Given the description of an element on the screen output the (x, y) to click on. 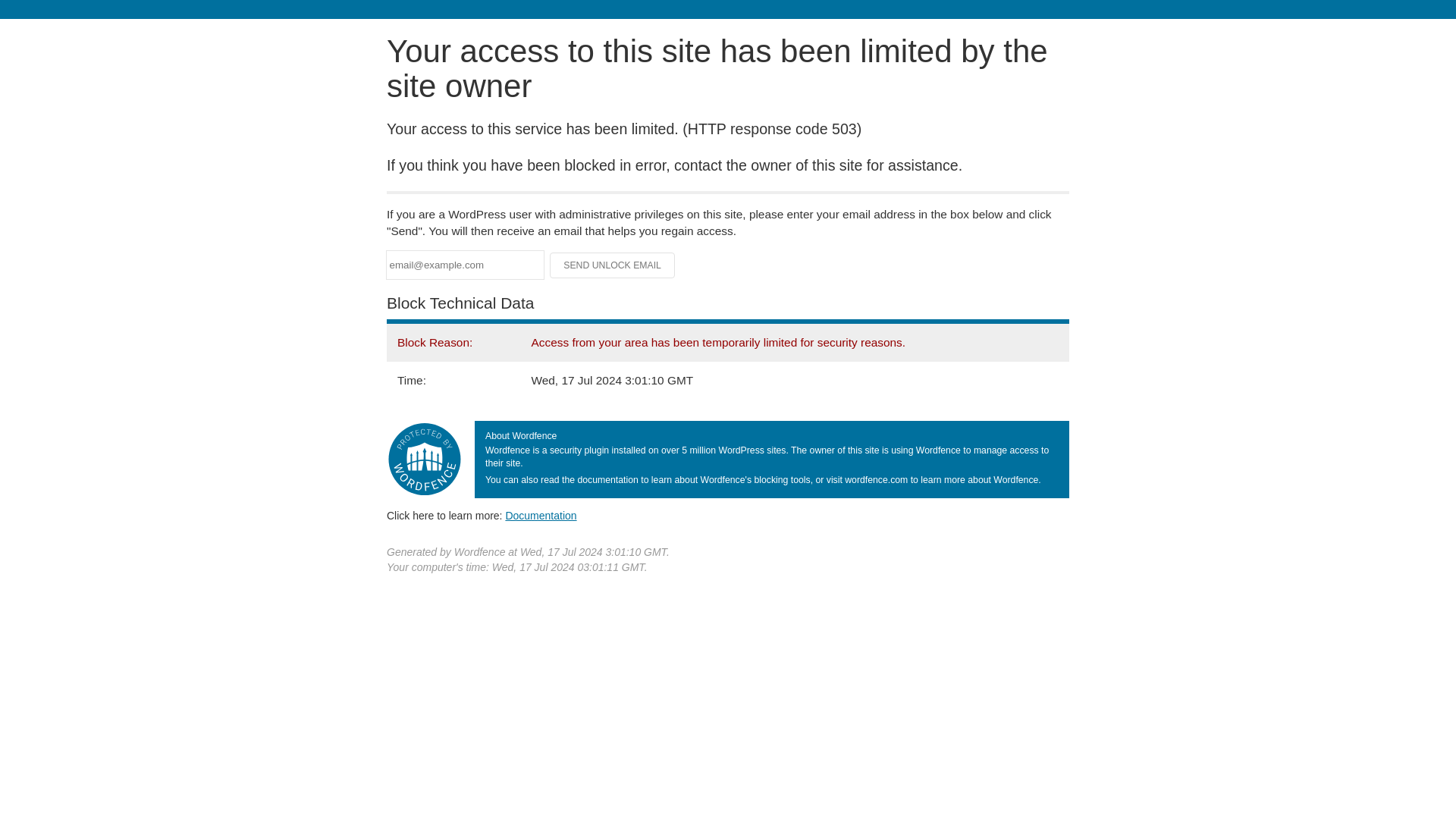
Documentation (540, 515)
Send Unlock Email (612, 265)
Send Unlock Email (612, 265)
